Given the description of an element on the screen output the (x, y) to click on. 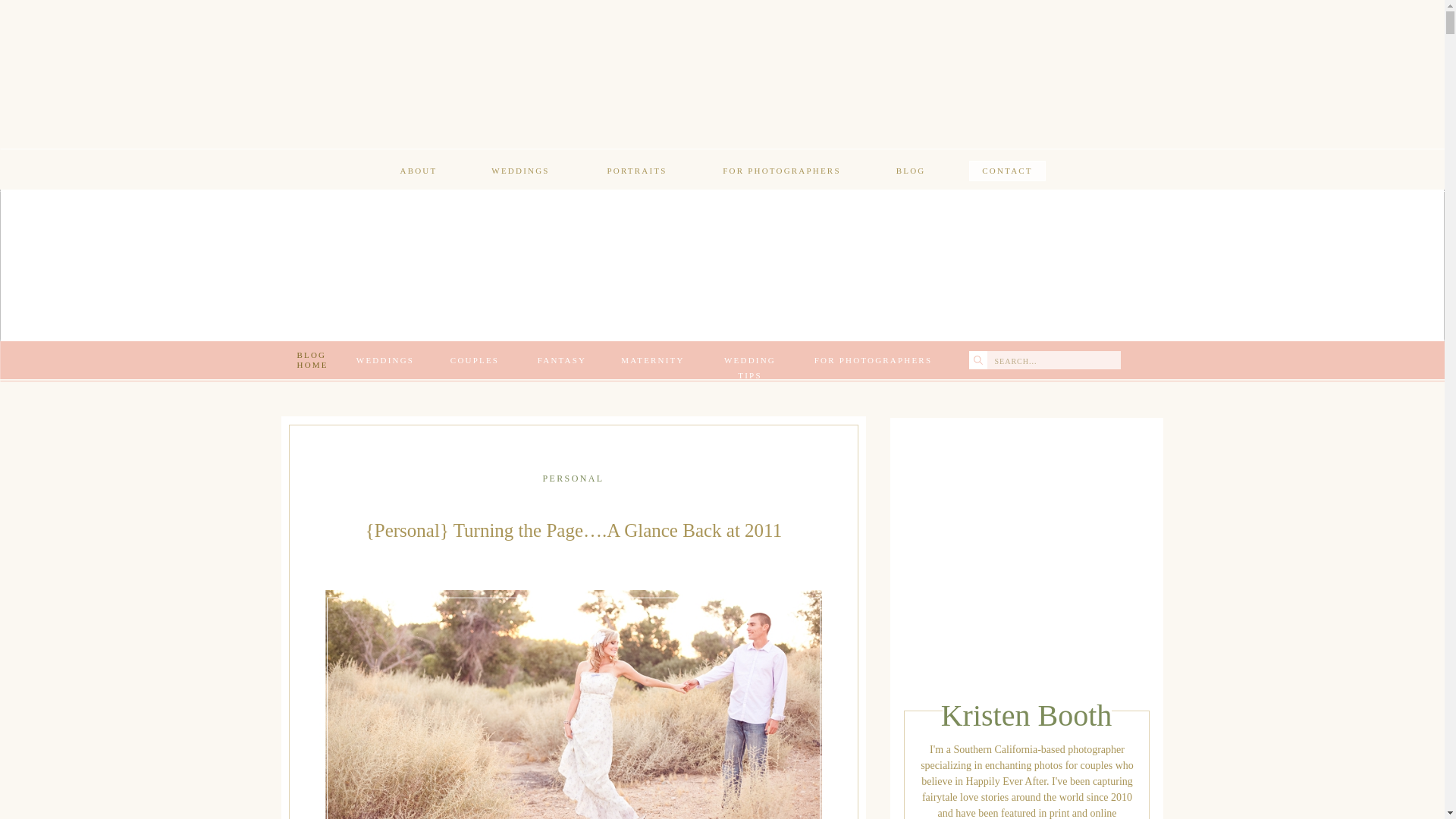
FOR PHOTOGRAPHERS (872, 359)
WEDDING TIPS (750, 359)
ABOUT (418, 170)
WEDDINGS (385, 359)
COUPLES (473, 359)
BLOG (909, 170)
FANTASY (561, 359)
PORTRAITS (637, 170)
CONTACT (1006, 170)
FOR PHOTOGRAPHERS (781, 170)
PERSONAL (572, 478)
MATERNITY (652, 359)
WEDDINGS (519, 170)
BLOG HOME (315, 360)
